Given the description of an element on the screen output the (x, y) to click on. 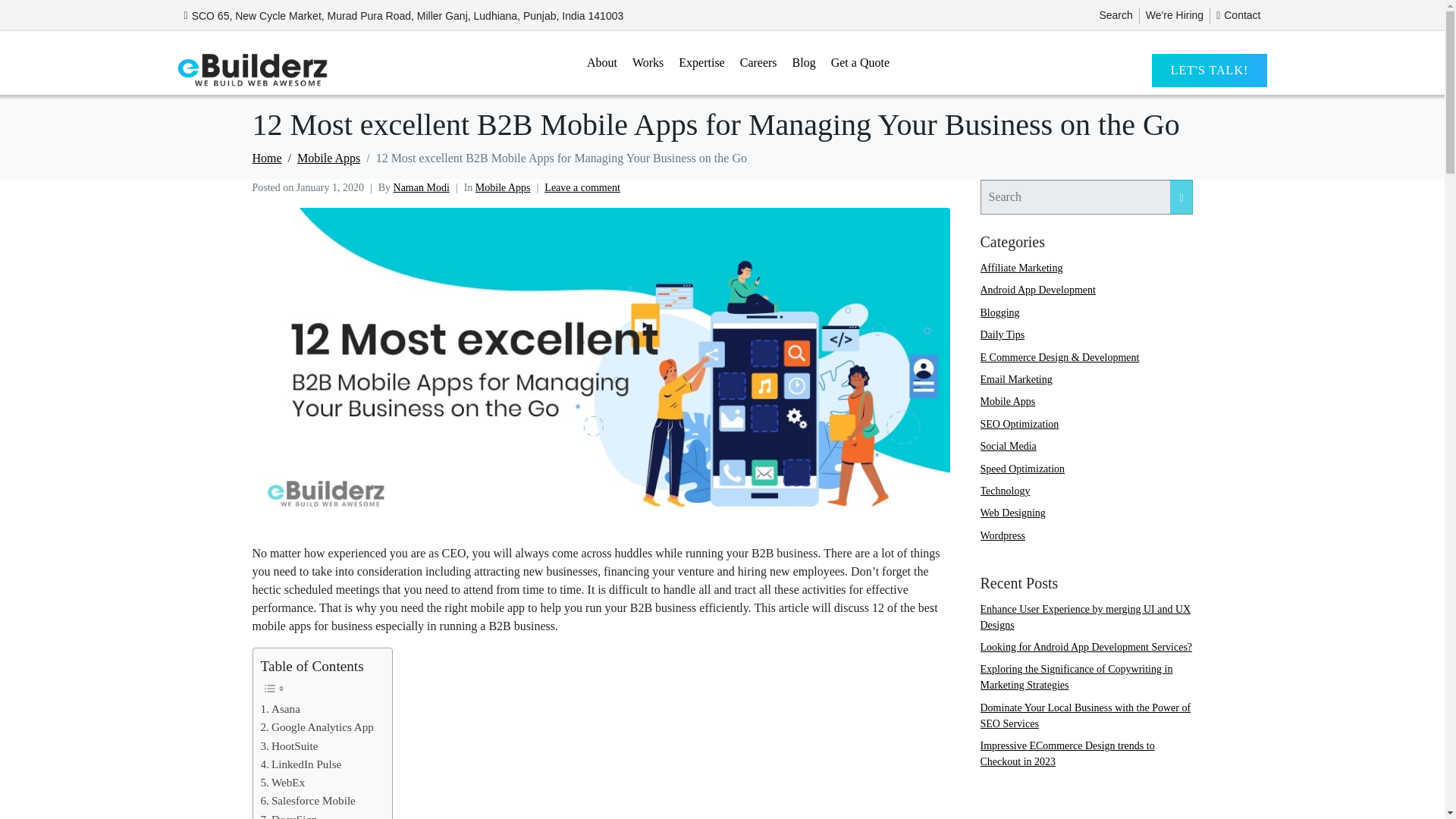
Contact (1237, 15)
Asana (279, 709)
Careers (758, 62)
Blog (804, 62)
Works (647, 62)
We're Hiring (1174, 15)
Salesforce Mobile (307, 800)
Get a Quote (860, 62)
DocuSign (288, 814)
